Given the description of an element on the screen output the (x, y) to click on. 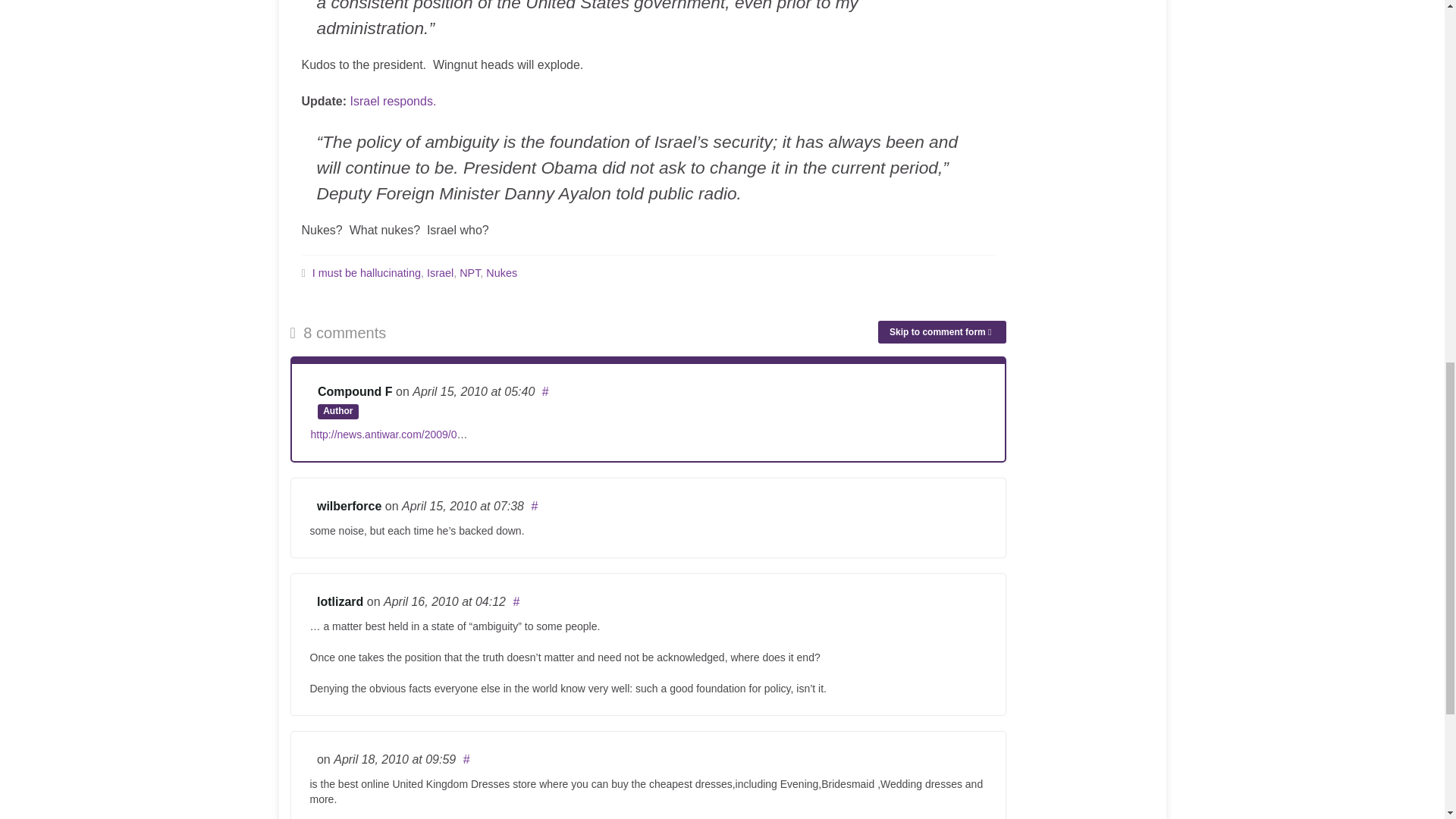
I must be hallucinating (366, 272)
wilberforce (349, 505)
Skip to comment form (941, 332)
Nukes (501, 272)
Compound F (355, 391)
NPT (470, 272)
Israel responds. (393, 101)
lotlizard (339, 601)
Israel (439, 272)
